Given the description of an element on the screen output the (x, y) to click on. 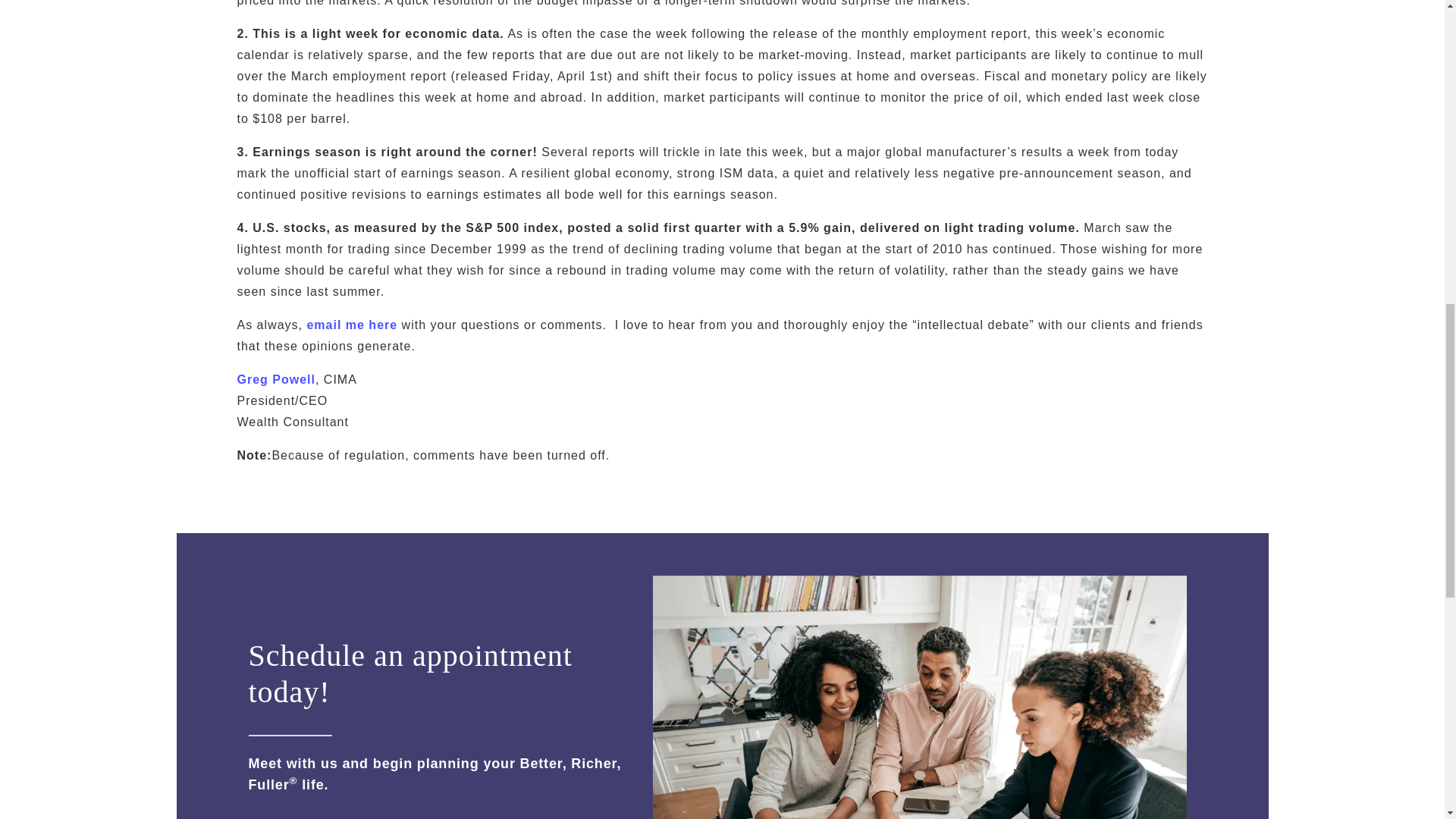
Greg Powell's Bio (274, 379)
Email Greg (351, 324)
Greg Powell (274, 379)
email me here (351, 324)
